Given the description of an element on the screen output the (x, y) to click on. 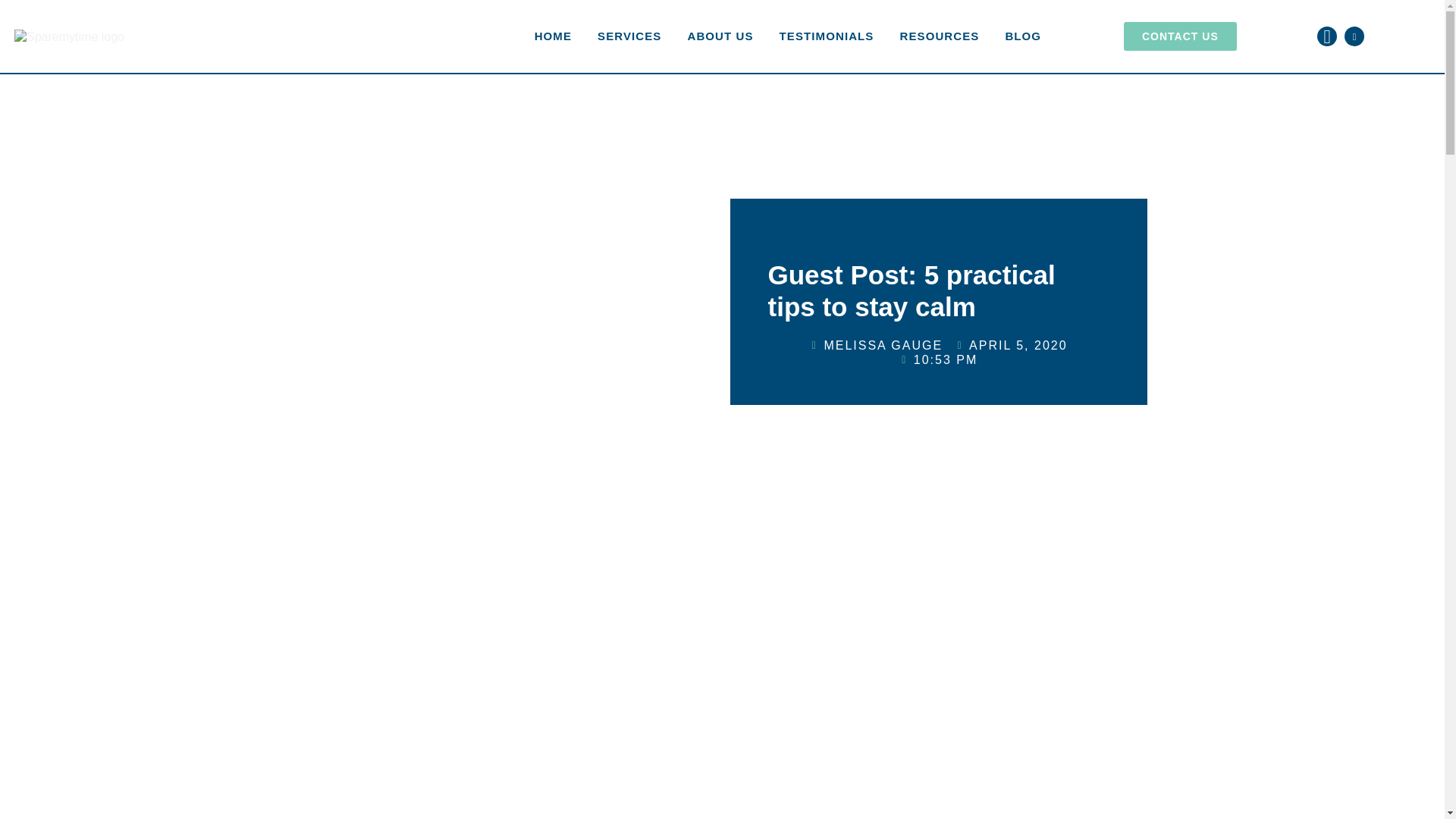
ABOUT US (719, 36)
SERVICES (629, 36)
HOME (553, 36)
BLOG (1022, 36)
APRIL 5, 2020 (1011, 345)
CONTACT US (1180, 36)
TESTIMONIALS (826, 36)
RESOURCES (938, 36)
MELISSA GAUGE (875, 345)
